Given the description of an element on the screen output the (x, y) to click on. 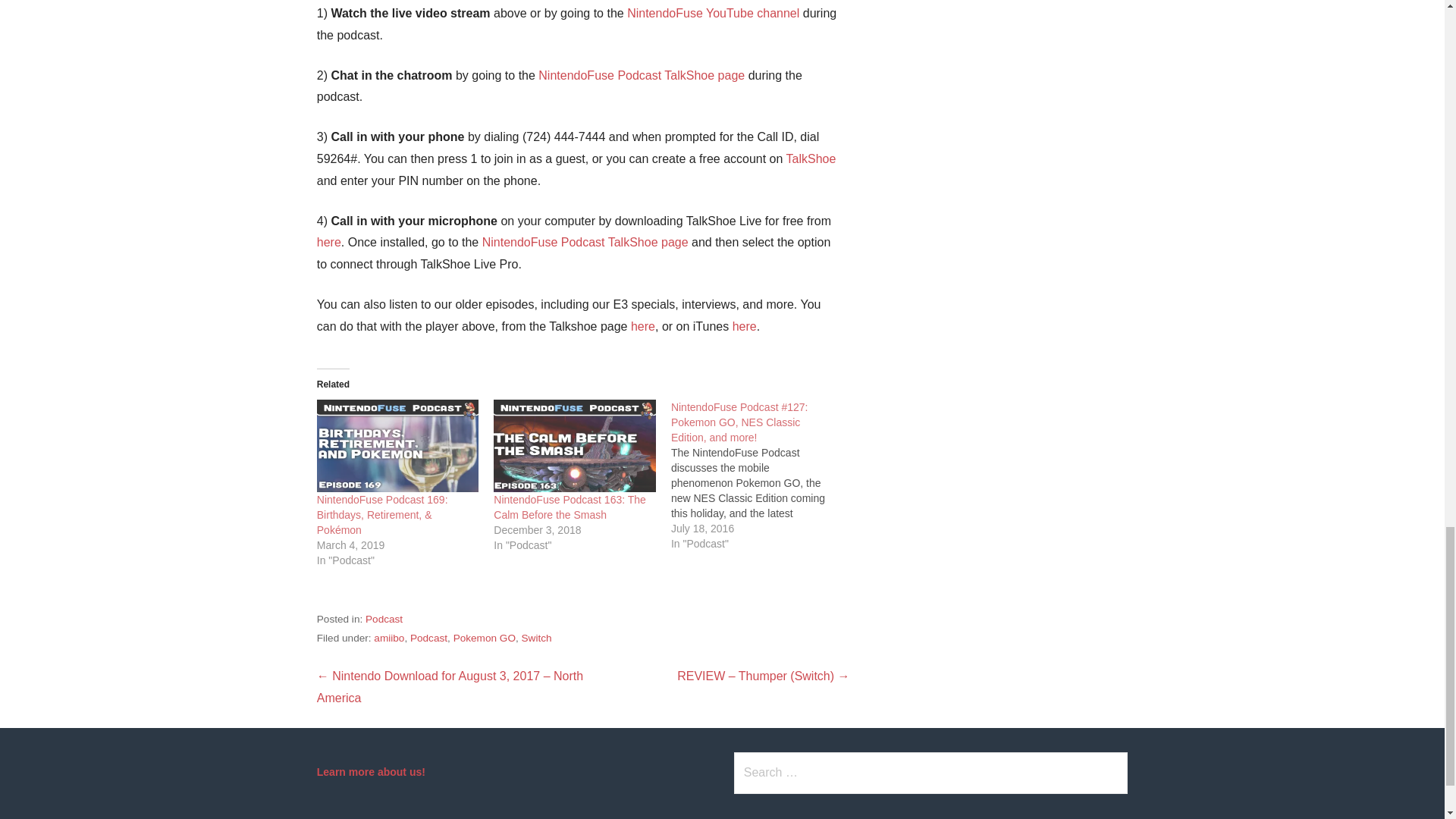
here (744, 326)
Switch (536, 637)
Pokemon GO (483, 637)
amiibo (389, 637)
Learn more about us! (371, 771)
NintendoFuse Podcast TalkShoe page (584, 241)
here (642, 326)
NintendoFuse Podcast 163: The Calm Before the Smash (574, 445)
PIN number on the phone (467, 180)
Podcast (428, 637)
NintendoFuse YouTube channel (713, 12)
NintendoFuse Podcast TalkShoe page (641, 74)
NintendoFuse Podcast 163: The Calm Before the Smash (569, 506)
here (328, 241)
TalkShoe (810, 158)
